Given the description of an element on the screen output the (x, y) to click on. 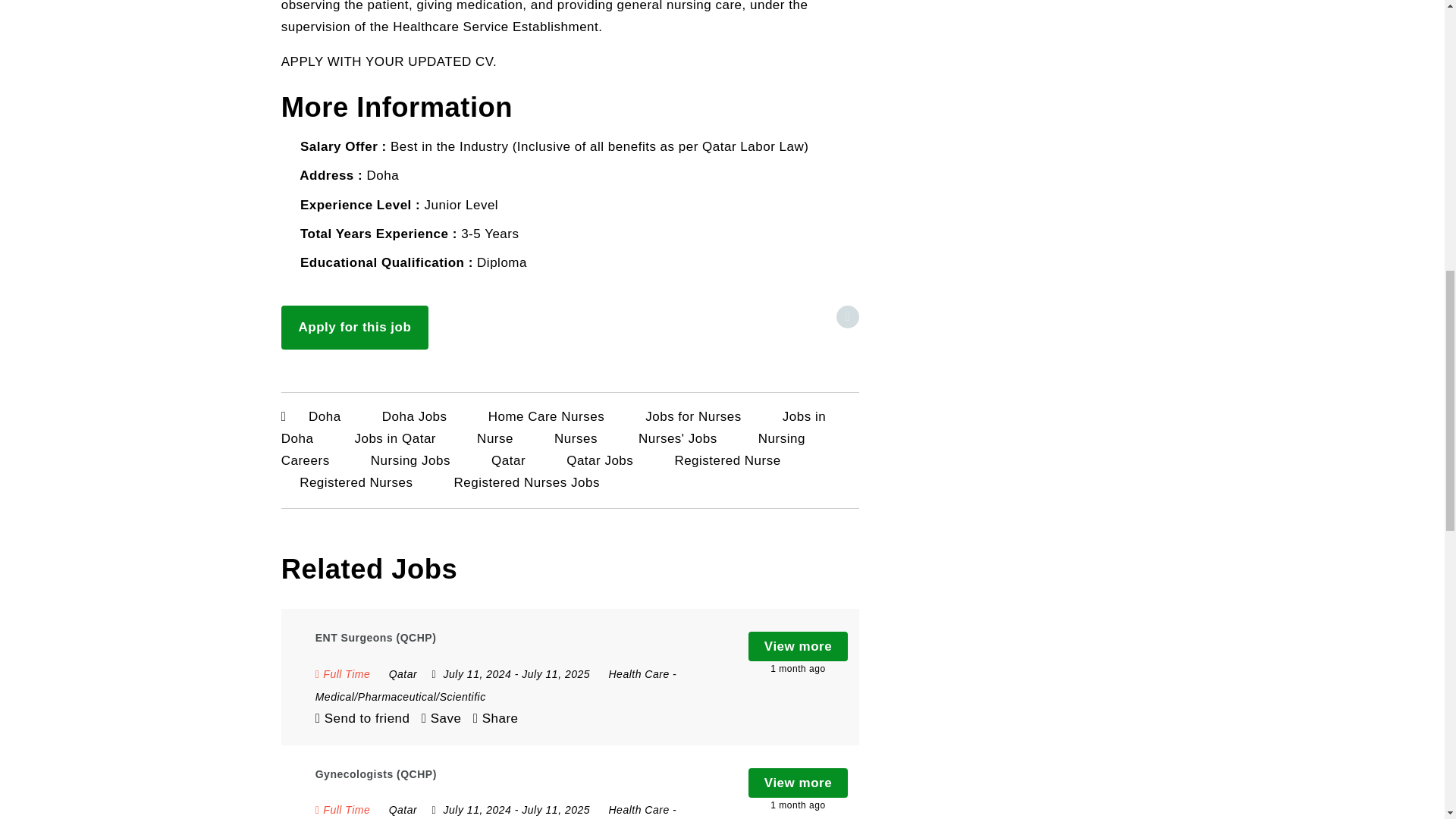
Doha (324, 416)
Nursing Jobs (409, 460)
Jobs for Nurses (692, 416)
Home Care Nurses (545, 416)
Doha Jobs (413, 416)
Registered Nurse (726, 460)
Jobs in Qatar (394, 438)
Jobs in Doha (554, 427)
Nursing Careers (543, 449)
Nurses (576, 438)
